Given the description of an element on the screen output the (x, y) to click on. 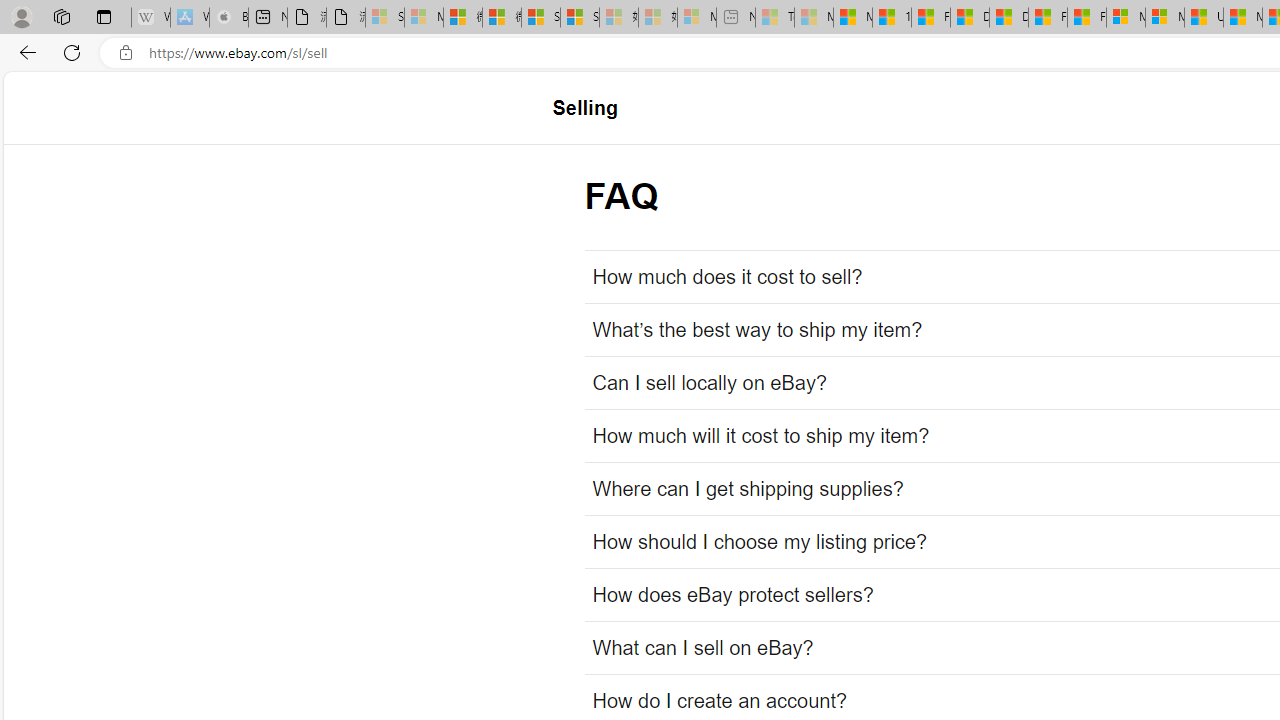
Marine life - MSN - Sleeping (813, 17)
Drinking tea every day is proven to delay biological aging (1008, 17)
Microsoft Services Agreement - Sleeping (423, 17)
Sign in to your Microsoft account - Sleeping (385, 17)
